Given the description of an element on the screen output the (x, y) to click on. 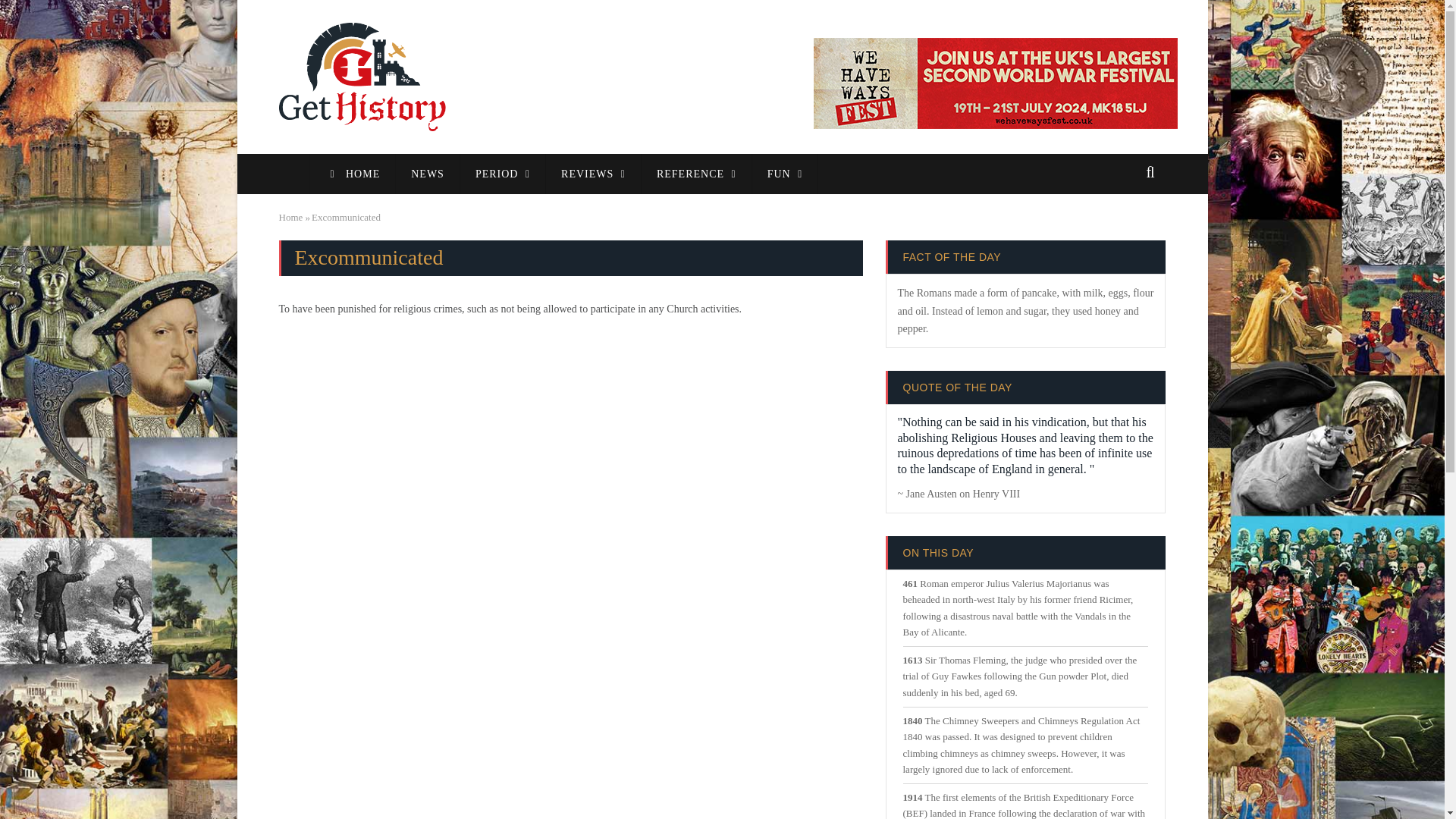
Home (362, 75)
NEWS (428, 173)
REVIEWS (594, 173)
HOME (352, 173)
FUN (785, 173)
PERIOD (503, 173)
REFERENCE (697, 173)
Home (290, 216)
